Given the description of an element on the screen output the (x, y) to click on. 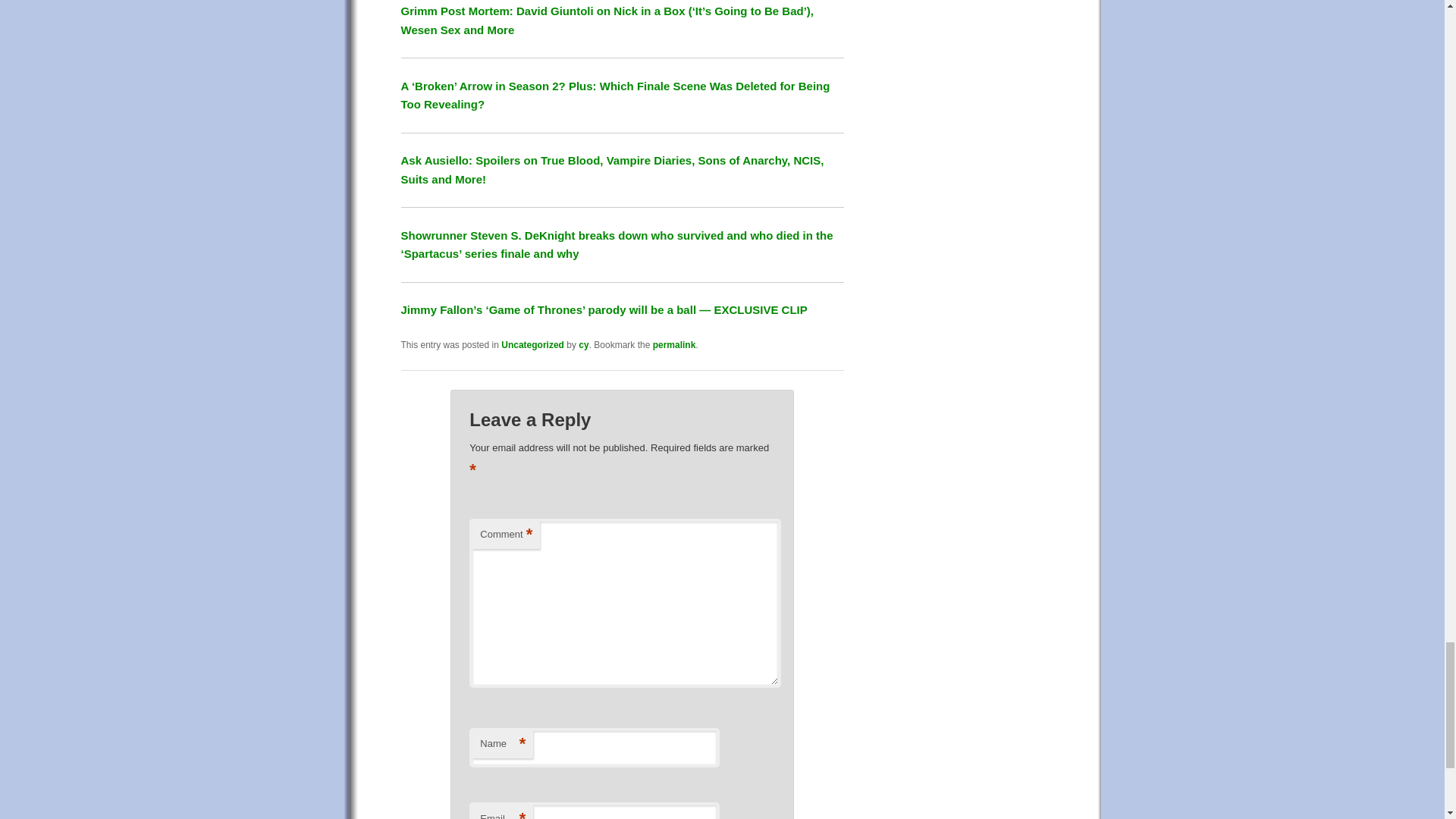
cy (583, 344)
permalink (673, 344)
Uncategorized (532, 344)
